Given the description of an element on the screen output the (x, y) to click on. 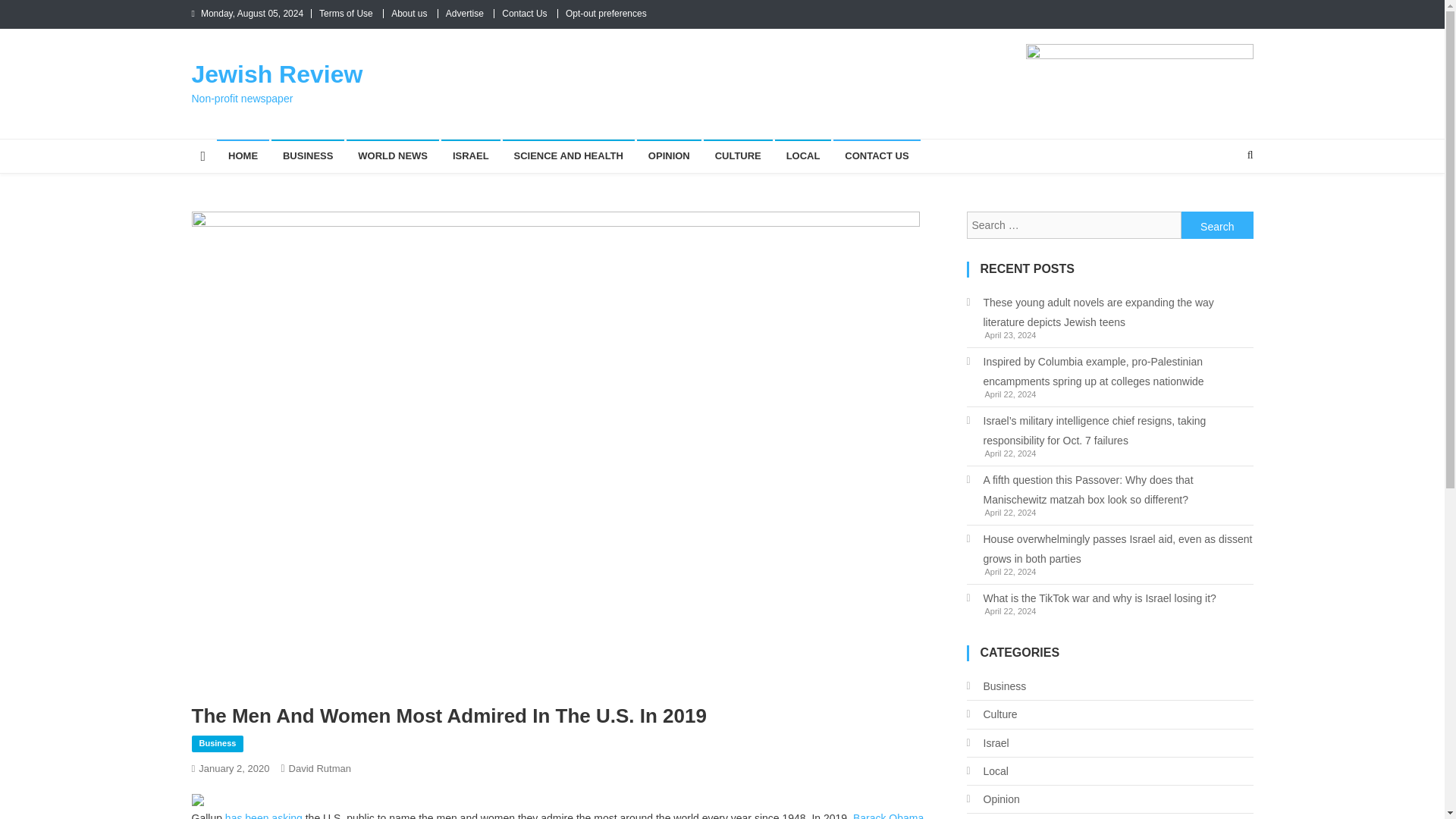
has been asking (263, 815)
ISRAEL (470, 155)
Search (1221, 205)
Contact Us (524, 13)
WORLD NEWS (392, 155)
HOME (242, 155)
Jewish Review (276, 73)
Search (1216, 225)
Business (216, 743)
CONTACT US (876, 155)
About us (408, 13)
OPINION (669, 155)
Advertise (464, 13)
SCIENCE AND HEALTH (567, 155)
Terms of Use (345, 13)
